Given the description of an element on the screen output the (x, y) to click on. 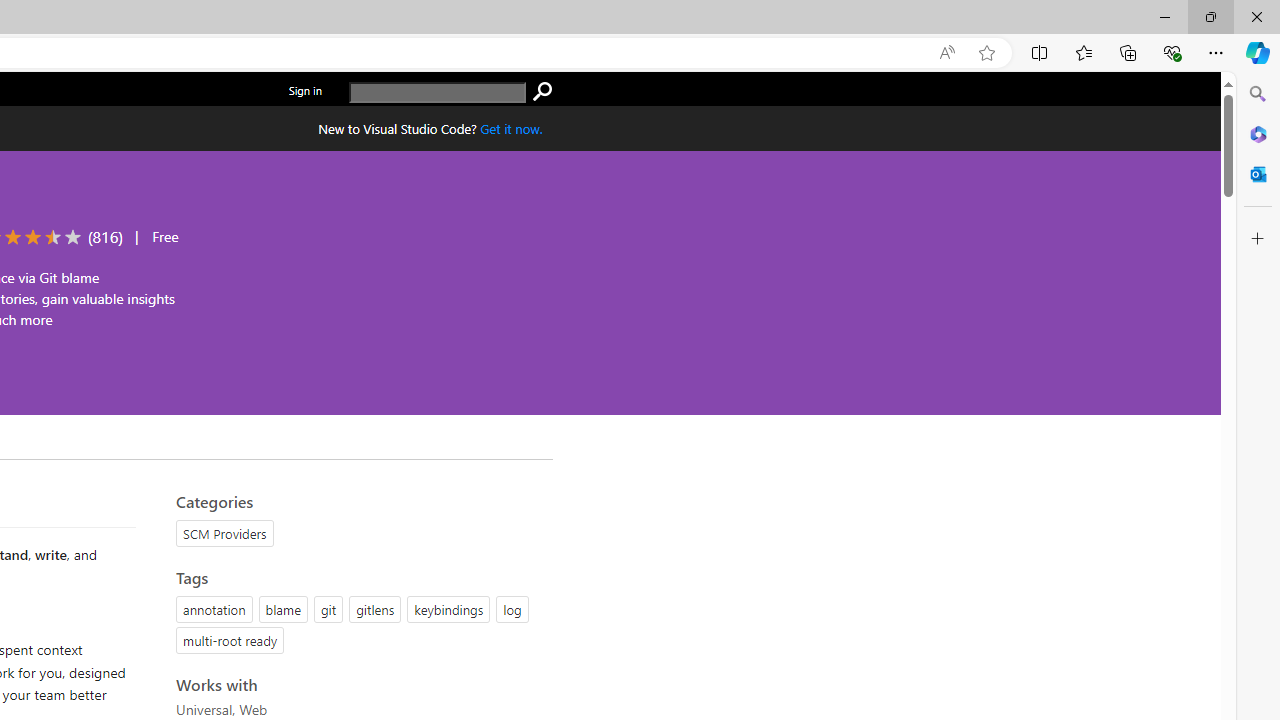
search (542, 92)
